Given the description of an element on the screen output the (x, y) to click on. 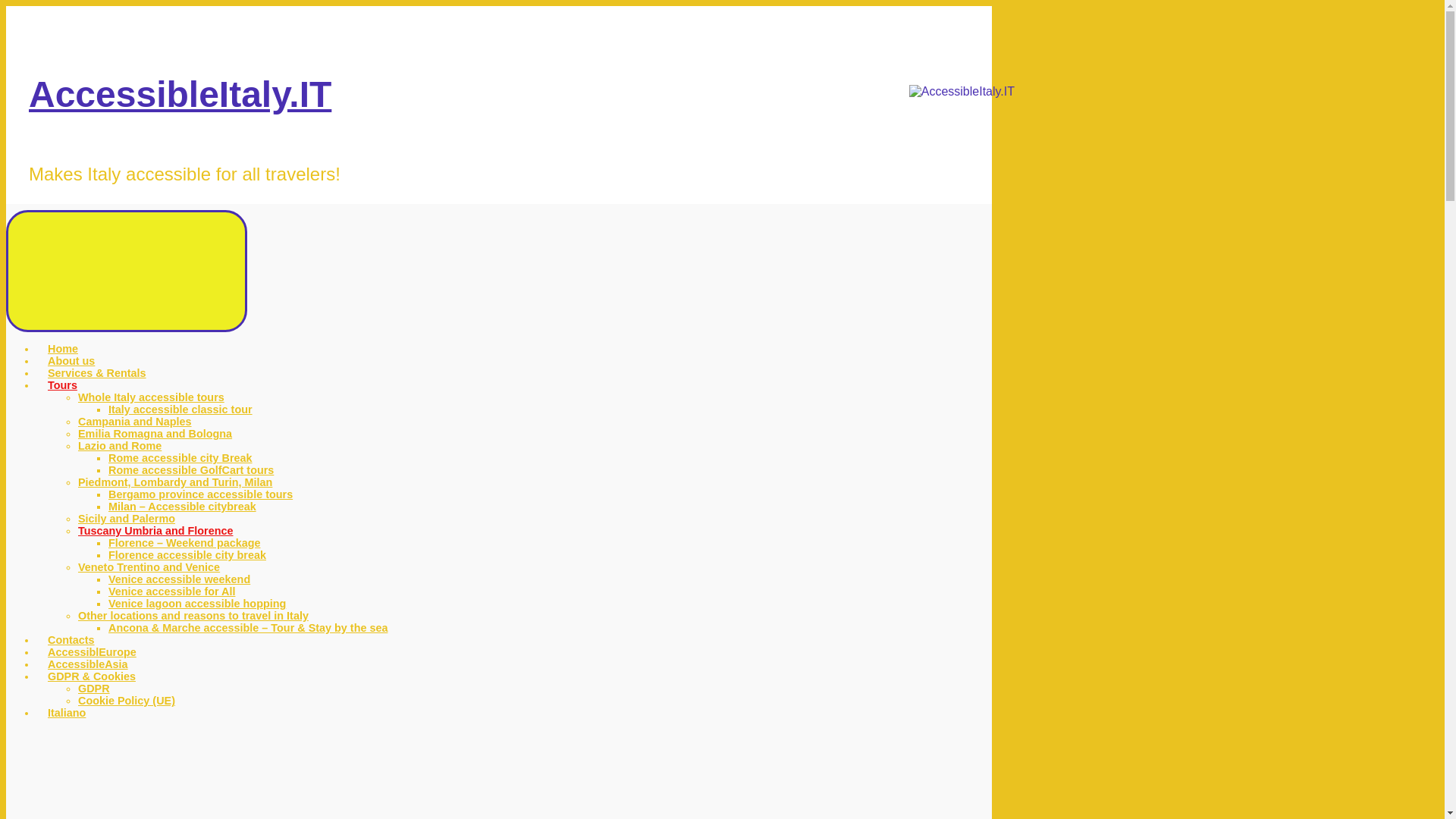
Italy accessible classic tour (179, 409)
Other locations and reasons to travel in Italy (193, 615)
Rome accessible city Break (179, 458)
Italiano (66, 712)
Venice lagoon accessible hopping (196, 603)
About us (71, 360)
Florence accessible city break (186, 554)
Contacts (71, 639)
Lazio and Rome (119, 445)
Whole Italy accessible tours (151, 397)
